Given the description of an element on the screen output the (x, y) to click on. 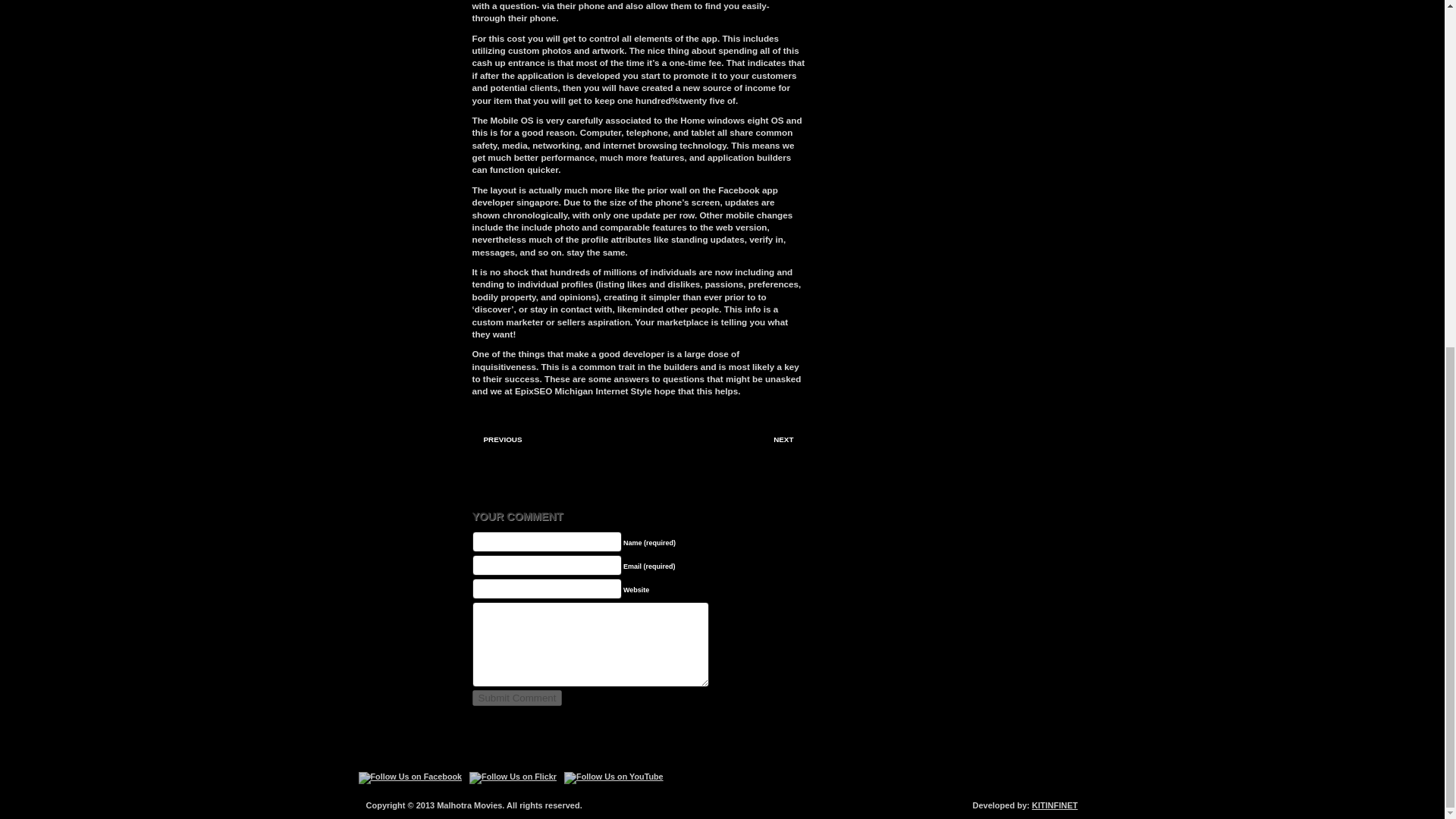
Submit Comment (516, 697)
Follow Us on YouTube (613, 777)
KITINFINET (1055, 804)
NEXT (779, 439)
Follow Us on Flickr (512, 777)
Wordspop (1017, 800)
Follow Us on Facebook (409, 777)
PREVIOUS (506, 439)
Submit Comment (516, 697)
